Given the description of an element on the screen output the (x, y) to click on. 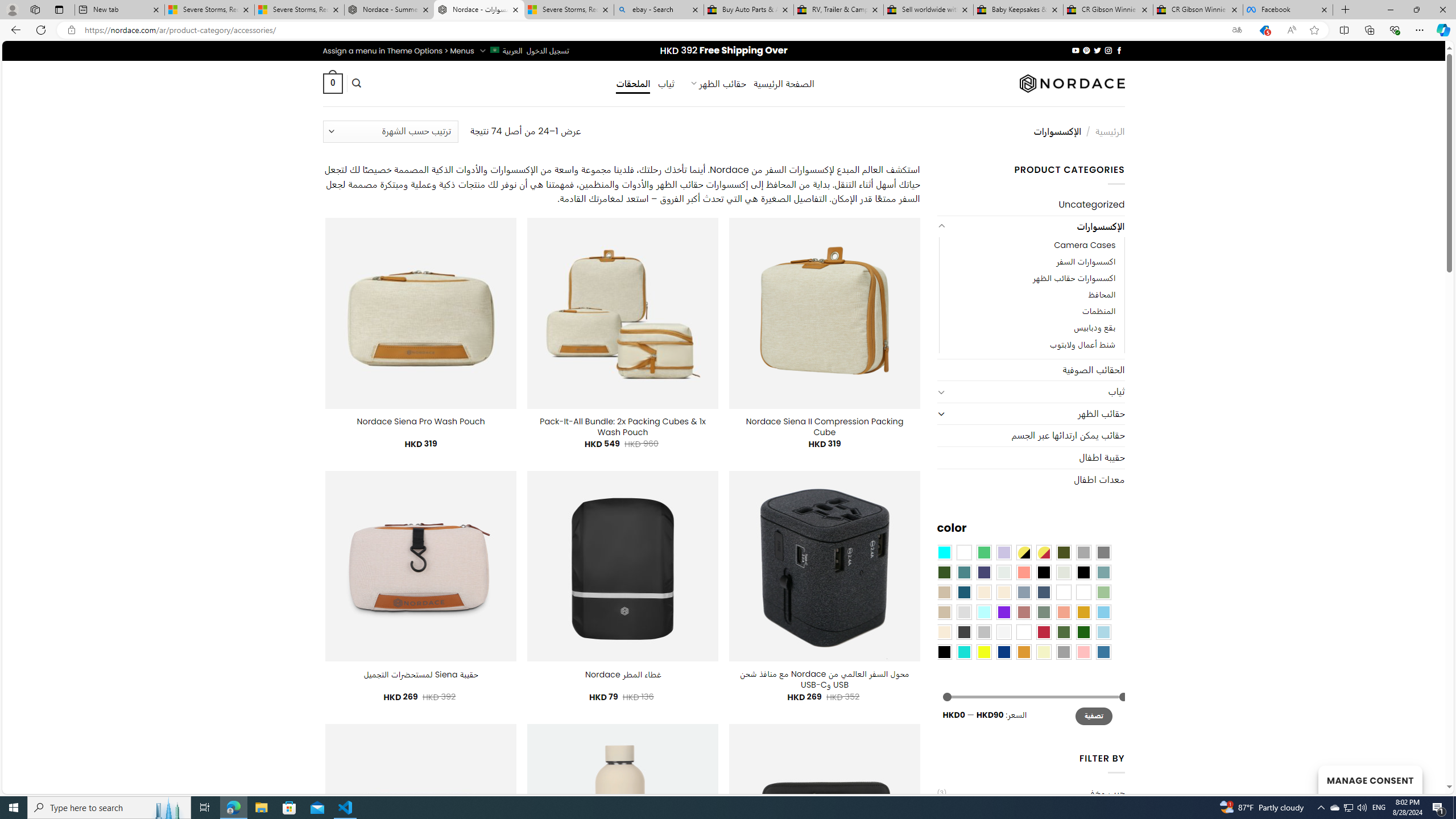
Light Purple (1003, 551)
Collections (1369, 29)
New Tab (1346, 9)
Refresh (40, 29)
Nordace (1072, 83)
Camera Cases (1031, 245)
Light-Gray (963, 611)
